Given the description of an element on the screen output the (x, y) to click on. 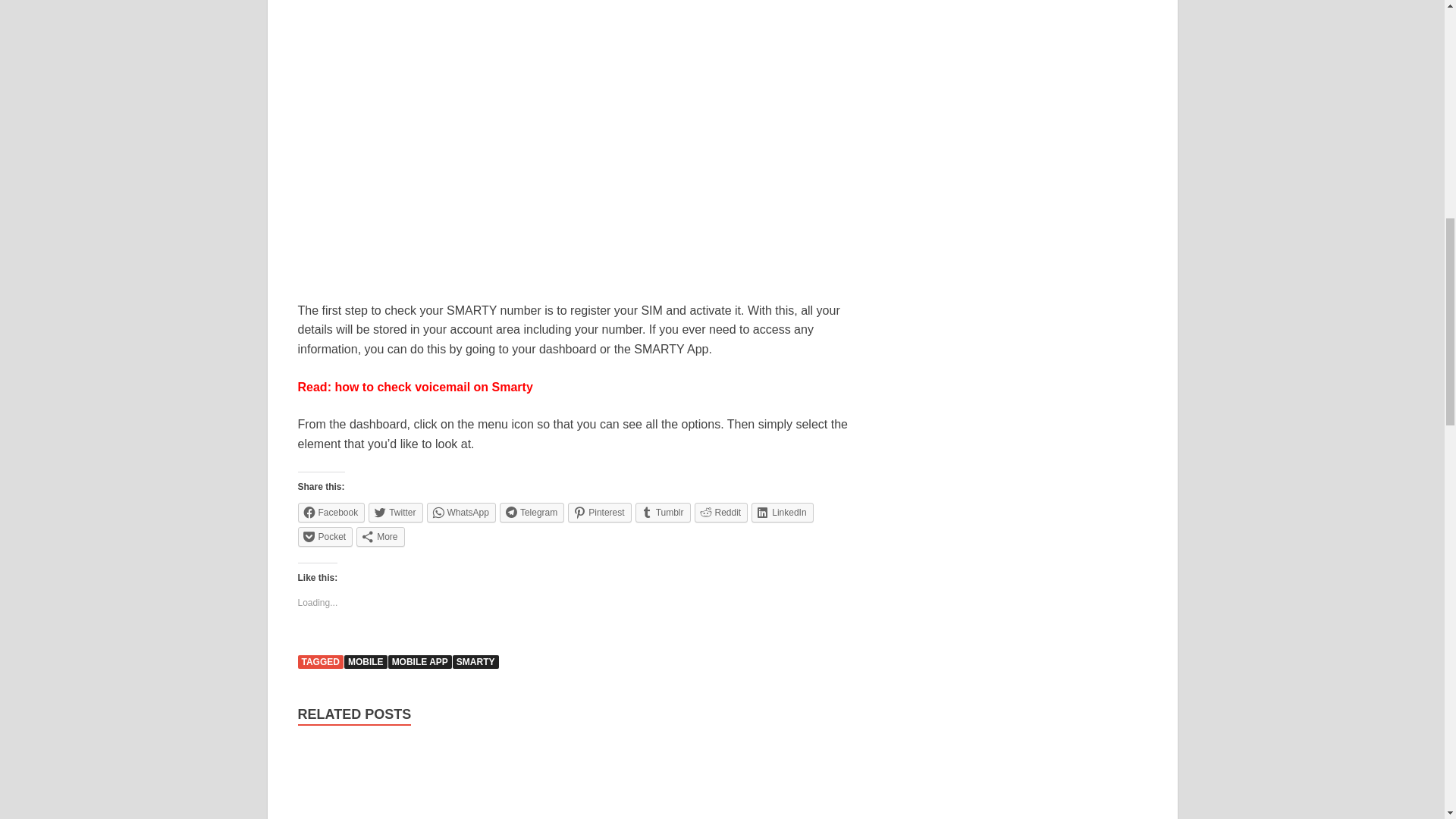
MOBILE APP (419, 662)
Click to share on WhatsApp (461, 512)
Tumblr (662, 512)
Click to share on Telegram (531, 512)
LinkedIn (781, 512)
Twitter (395, 512)
Click to share on Pinterest (598, 512)
More (380, 537)
Click to share on Tumblr (662, 512)
Facebook (331, 512)
Pinterest (598, 512)
SMARTY (475, 662)
Click to share on LinkedIn (781, 512)
Pocket (324, 537)
WhatsApp (461, 512)
